Given the description of an element on the screen output the (x, y) to click on. 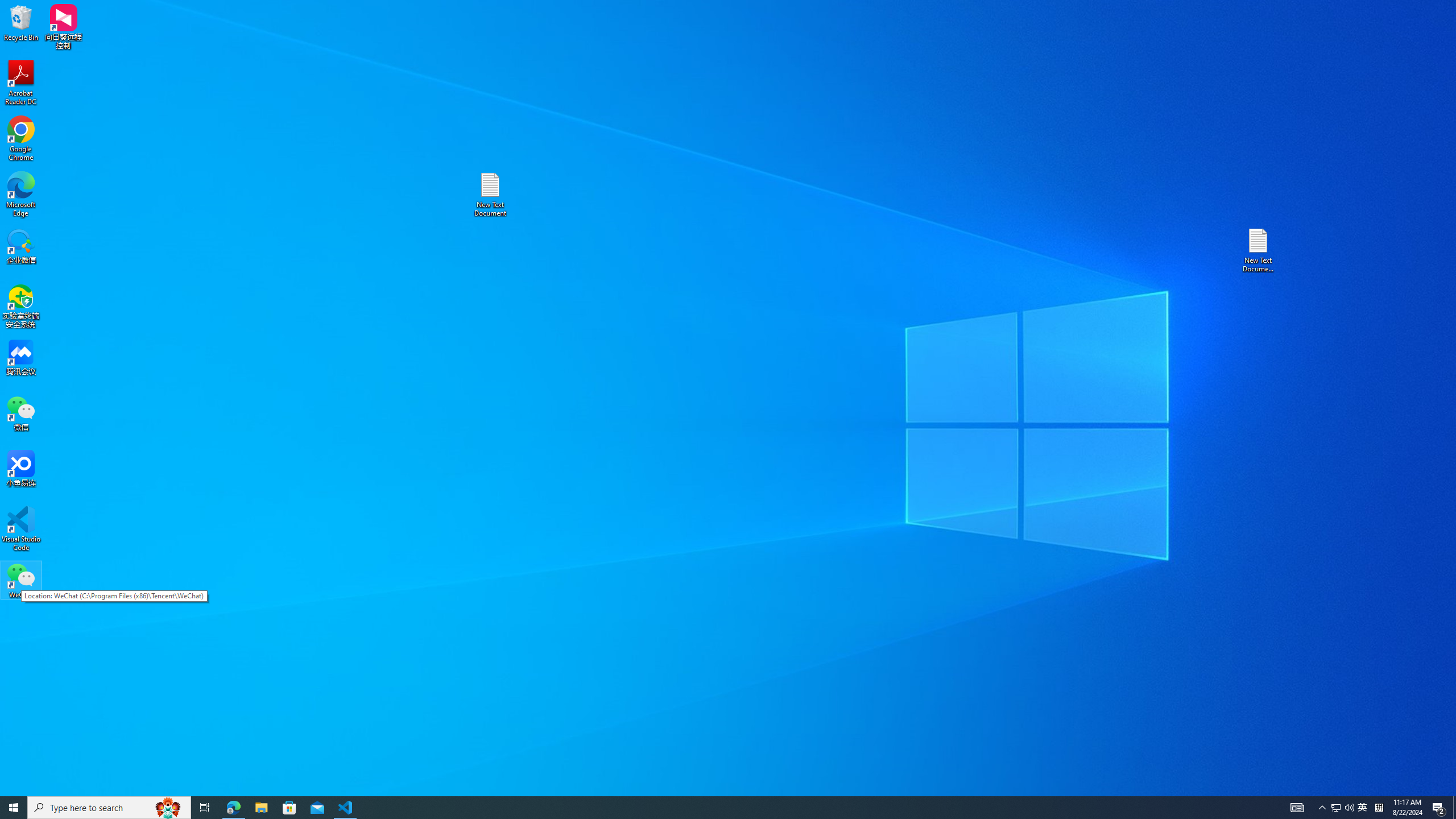
Microsoft Store (289, 807)
WeChat (21, 580)
Microsoft Edge (21, 194)
Search highlights icon opens search home window (167, 807)
Q2790: 100% (1349, 807)
Acrobat Reader DC (21, 82)
Notification Chevron (1322, 807)
Google Chrome (21, 138)
New Text Document (489, 194)
File Explorer (1335, 807)
